Given the description of an element on the screen output the (x, y) to click on. 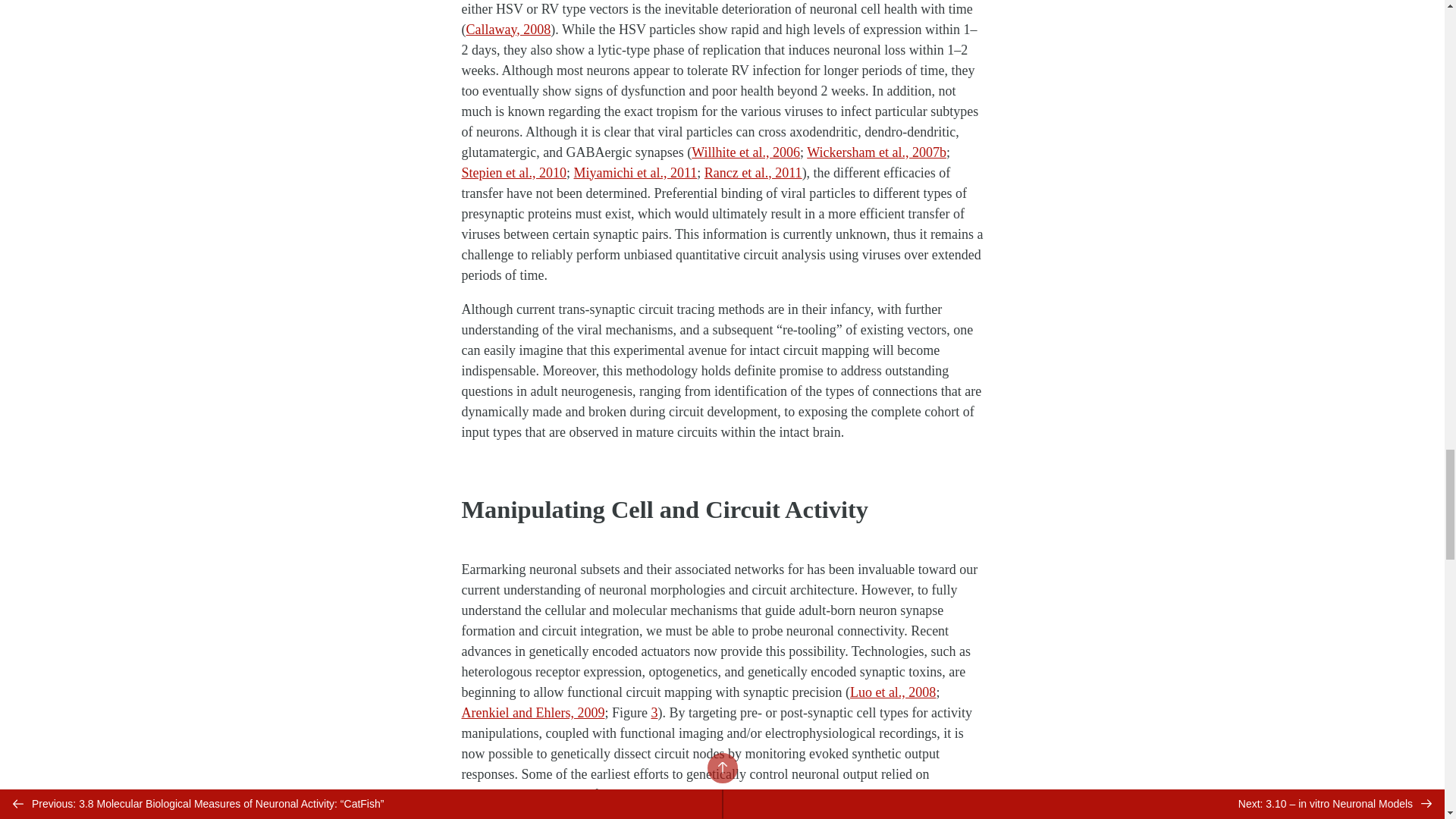
Wickersham et al., 2007b (876, 151)
Callaway, 2008 (507, 29)
Arenkiel and Ehlers, 2009 (532, 712)
Stepien et al., 2010 (513, 172)
Willhite et al., 2006 (745, 151)
Rancz et al., 2011 (753, 172)
Miyamichi et al., 2011 (635, 172)
Luo et al., 2008 (893, 692)
